Given the description of an element on the screen output the (x, y) to click on. 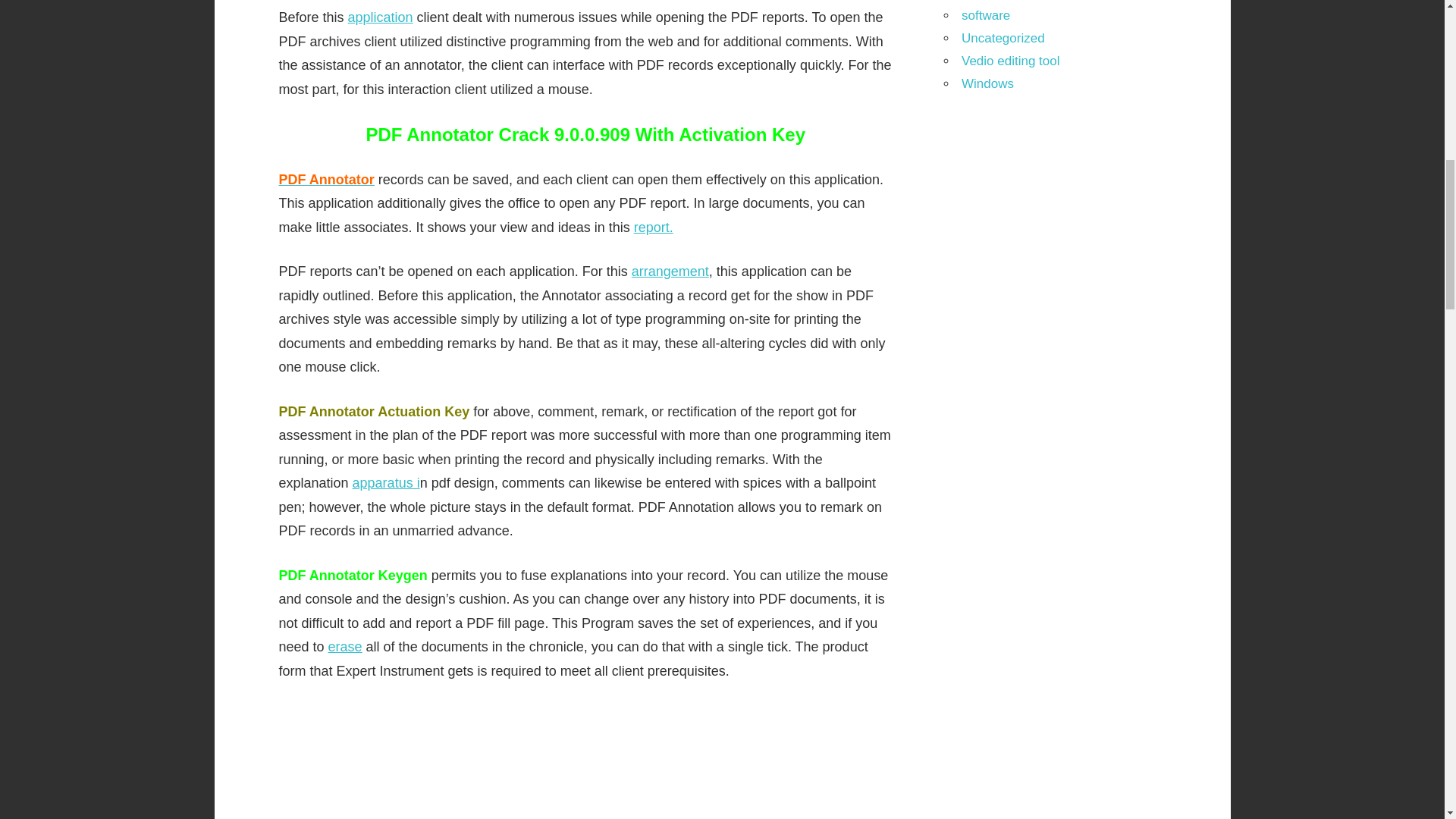
report. (652, 227)
PDF Annotator (326, 179)
arrangement (670, 271)
application (380, 17)
erase (345, 646)
apparatus i (386, 482)
